Given the description of an element on the screen output the (x, y) to click on. 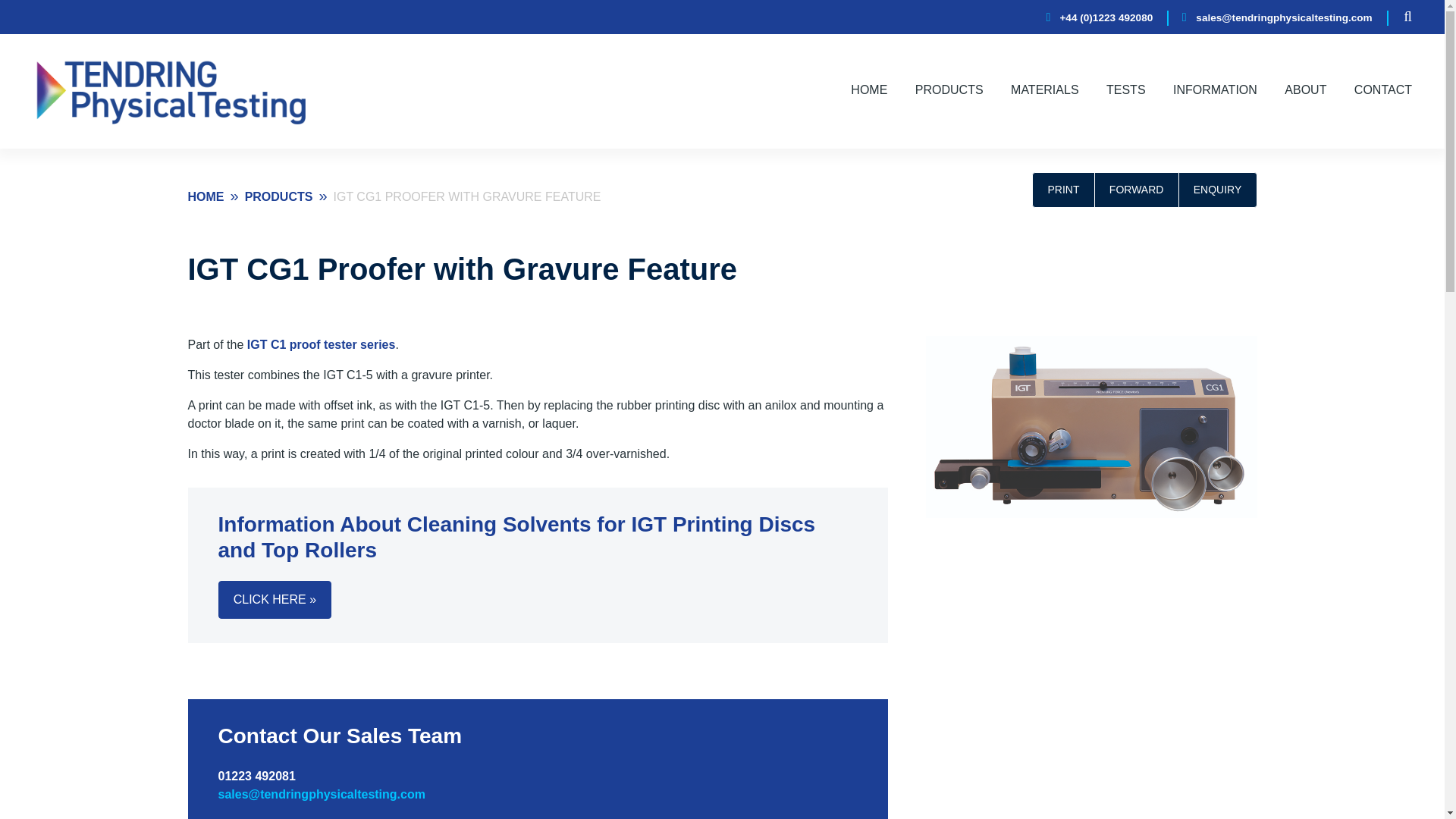
Go to Tendring Physical Testing Ltd. (207, 196)
PRINT (1063, 189)
HOME (207, 196)
ABOUT (1305, 91)
IGT C1 proof tester series (321, 344)
MATERIALS (1044, 91)
HOME (868, 91)
CONTACT (1383, 90)
ENQUIRY (1217, 189)
PRODUCTS (949, 91)
